Given the description of an element on the screen output the (x, y) to click on. 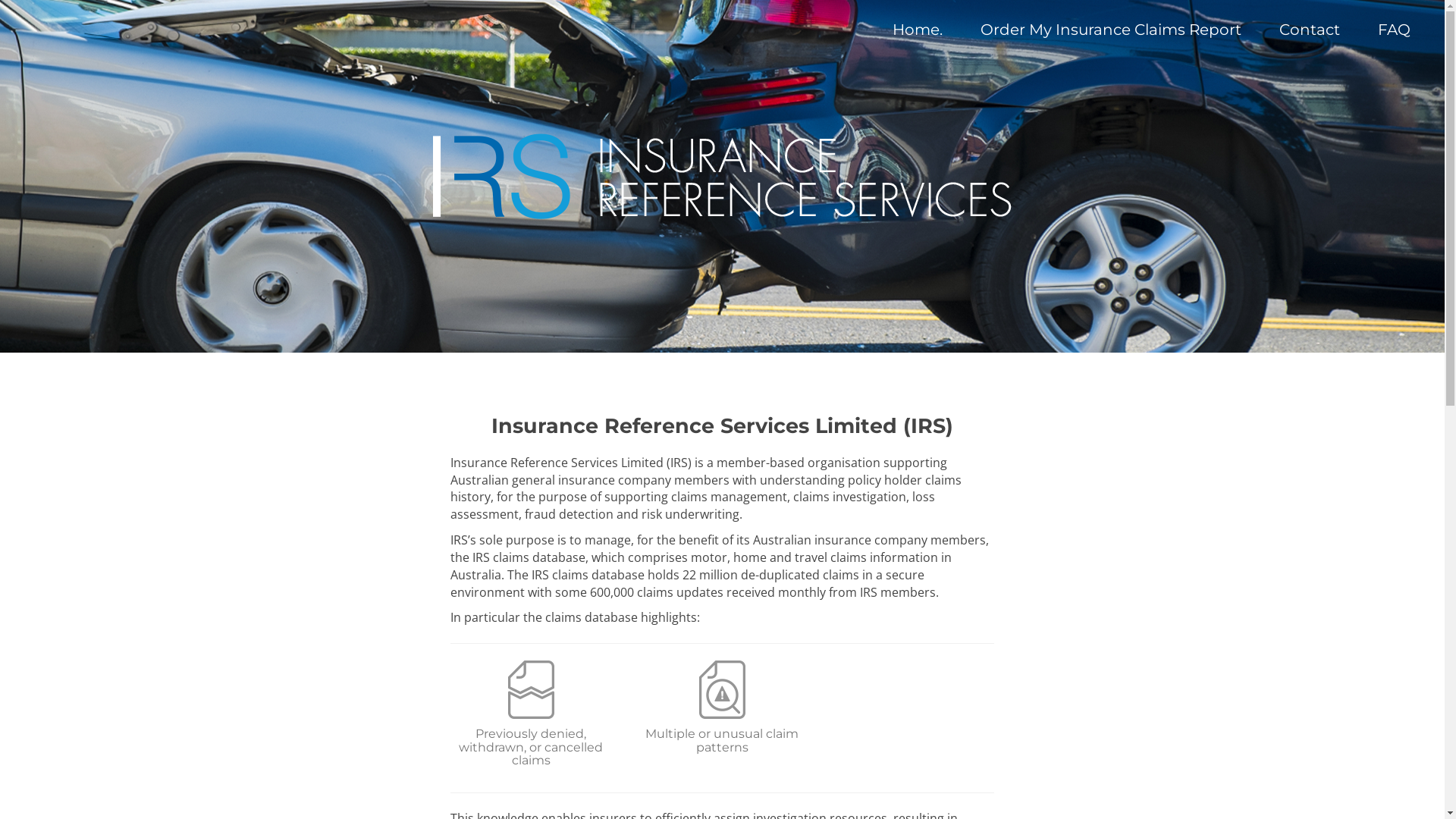
FAQ Element type: text (1393, 29)
Order My Insurance Claims Report Element type: text (1110, 29)
Home. Element type: text (917, 29)
Contact Element type: text (1309, 29)
